Given the description of an element on the screen output the (x, y) to click on. 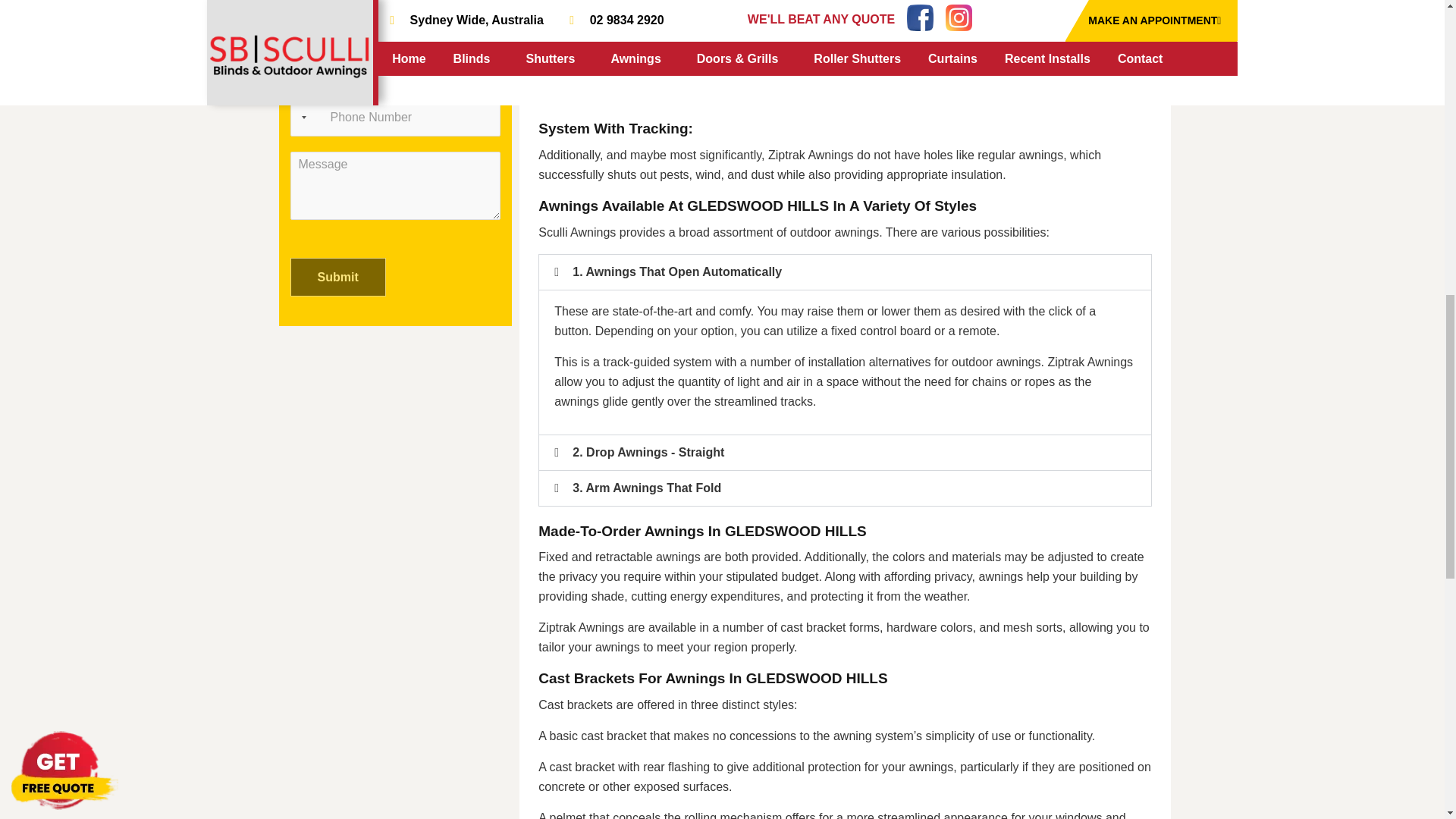
Sculli Blinds and Screens (395, 481)
